Given the description of an element on the screen output the (x, y) to click on. 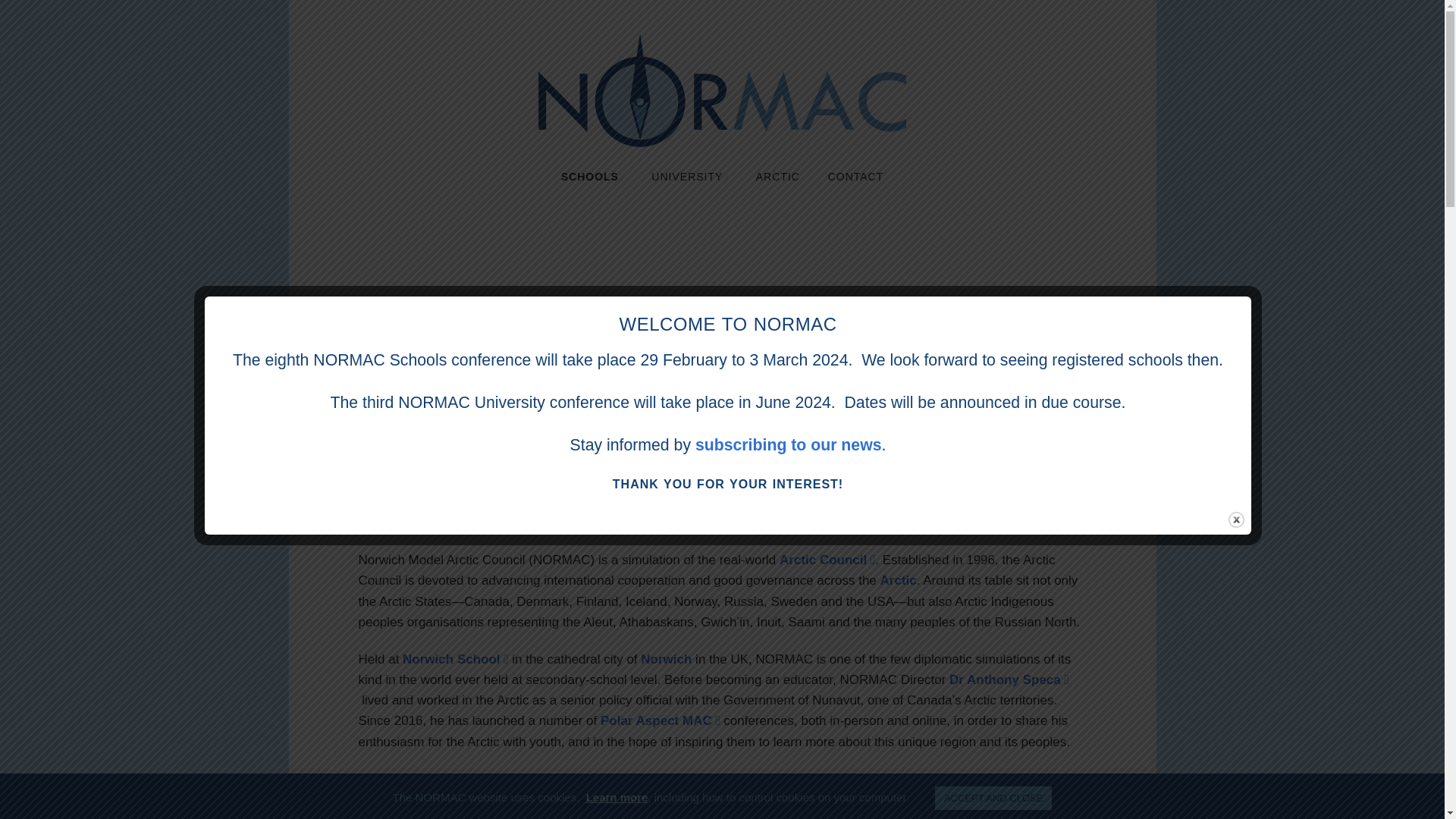
SCHOOLS (592, 177)
Arctic (898, 580)
Close (1236, 519)
UNIVERSITY (689, 177)
Norwich (665, 658)
CONTACT (855, 177)
ARCTIC (778, 177)
